Given the description of an element on the screen output the (x, y) to click on. 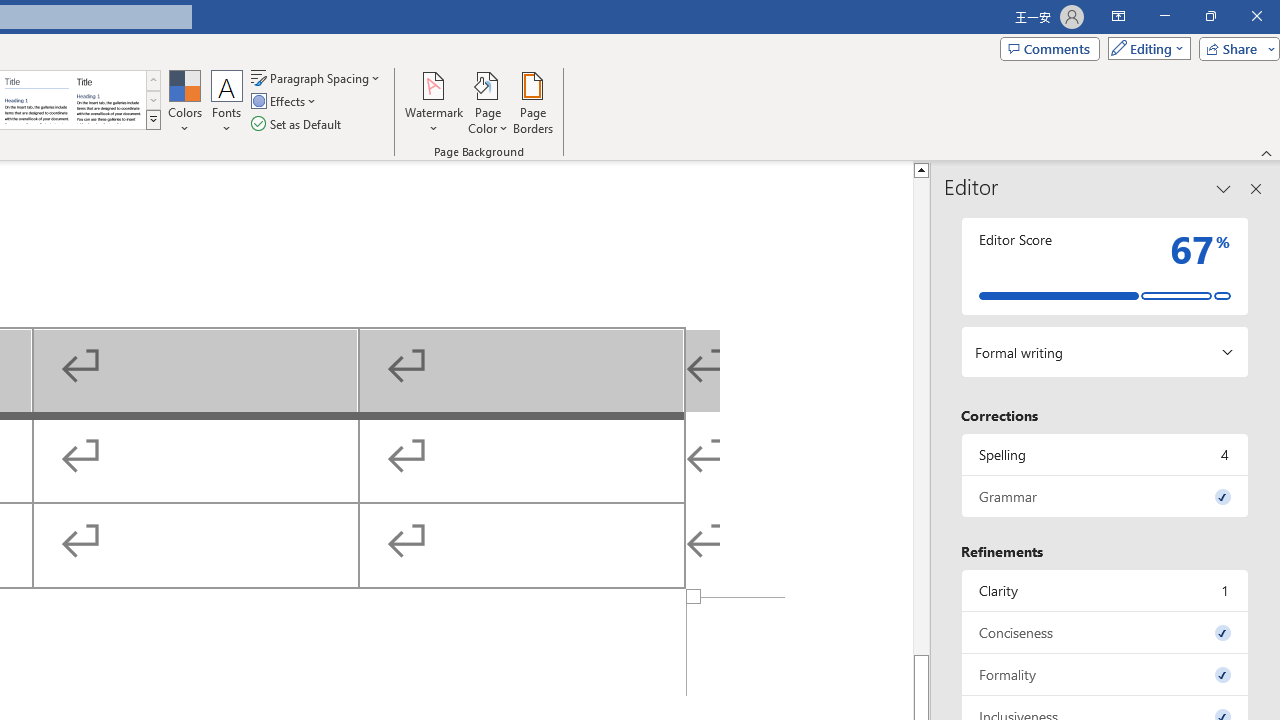
Word 2010 (36, 100)
Conciseness, 0 issues. Press space or enter to review items. (1105, 632)
Spelling, 4 issues. Press space or enter to review items. (1105, 454)
Fonts (227, 102)
Grammar, 0 issues. Press space or enter to review items. (1105, 495)
Set as Default (298, 124)
Word 2013 (108, 100)
Watermark (434, 102)
